Given the description of an element on the screen output the (x, y) to click on. 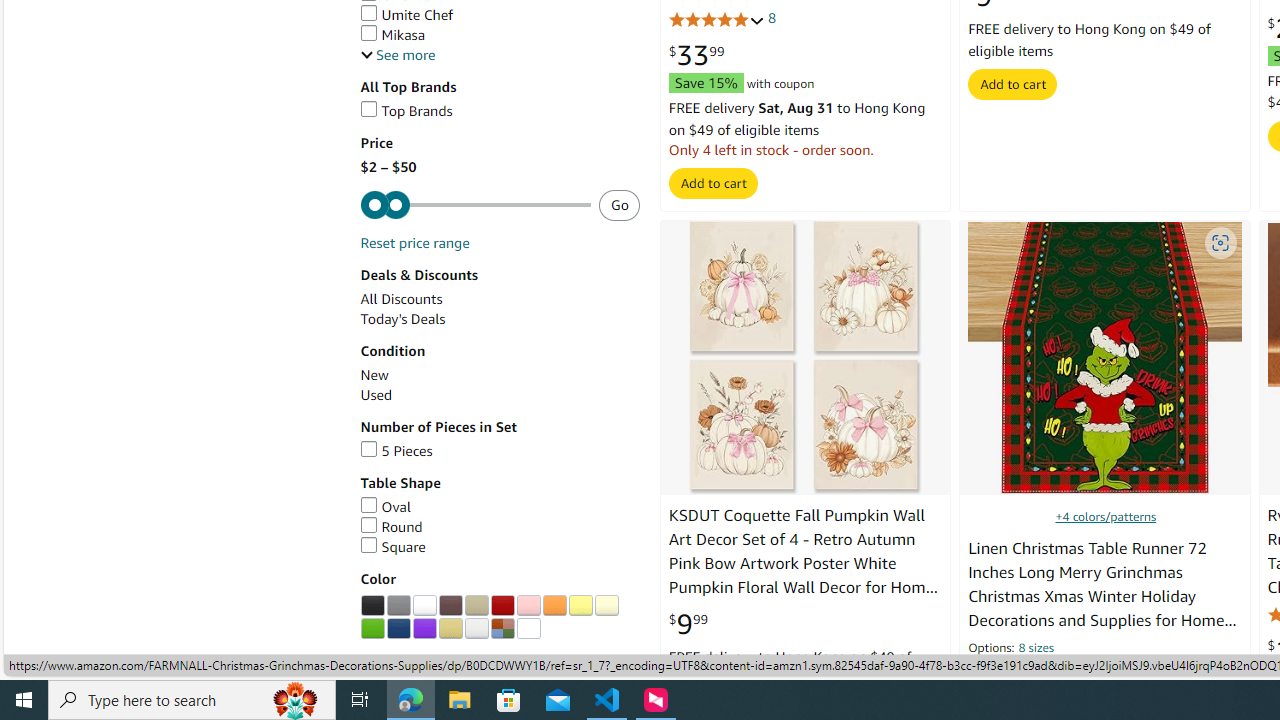
AutomationID: p_n_feature_twenty_browse-bin/3254110011 (424, 628)
AutomationID: p_n_feature_twenty_browse-bin/3254103011 (502, 605)
+4 colors/patterns (1105, 516)
8 sizes (1035, 649)
See more, Brands (397, 55)
Ivory (606, 605)
Oval (384, 506)
Skip to main search results (88, 666)
Beige (475, 605)
AutomationID: p_n_feature_twenty_browse-bin/3254102011 (475, 605)
Top Brands (406, 110)
Umite Chef (499, 15)
Purple (424, 628)
White (424, 605)
